Given the description of an element on the screen output the (x, y) to click on. 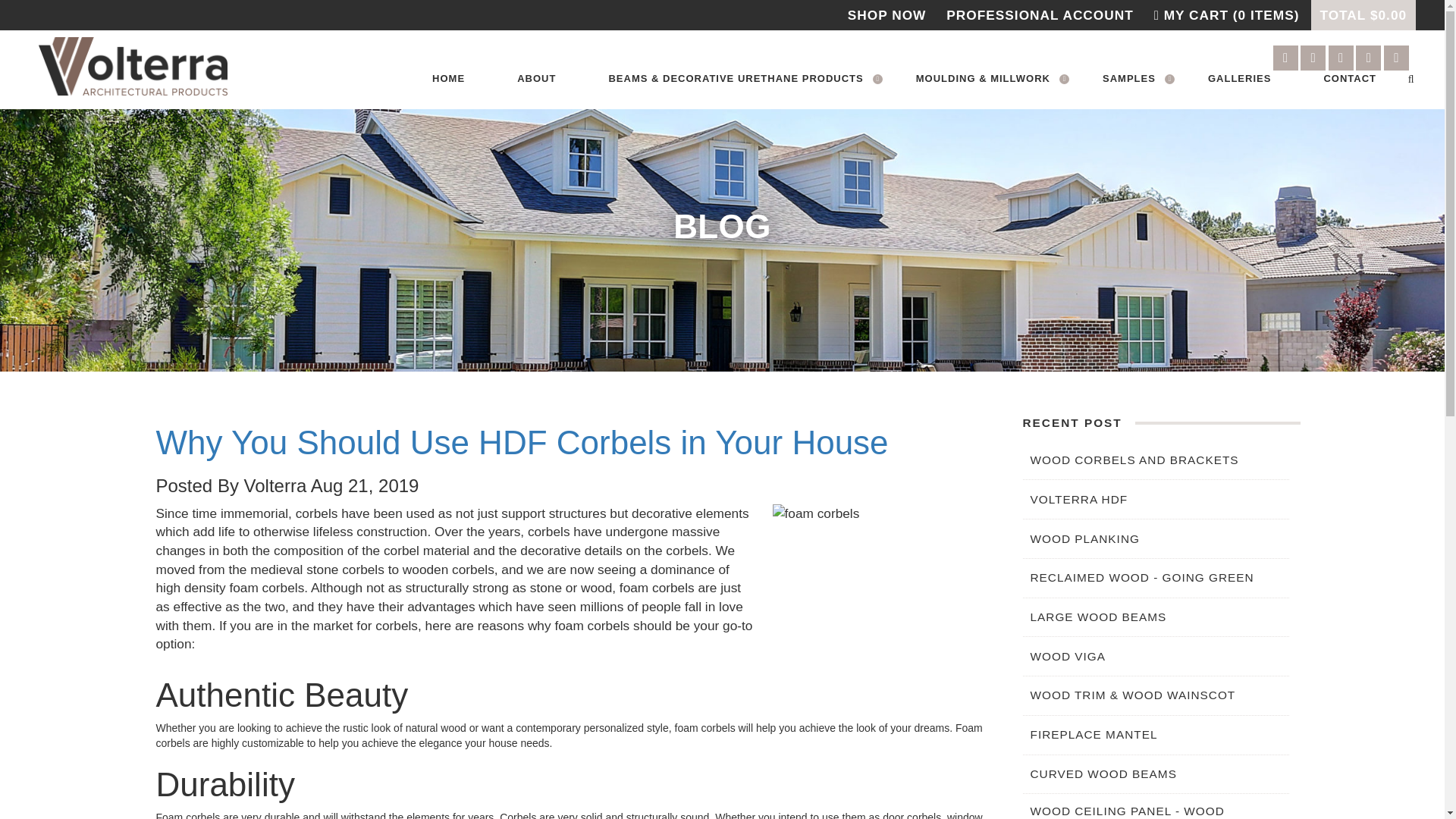
PROFESSIONAL ACCOUNT (1039, 15)
SHOP NOW (886, 15)
ABOUT (537, 78)
HOME (449, 78)
